Given the description of an element on the screen output the (x, y) to click on. 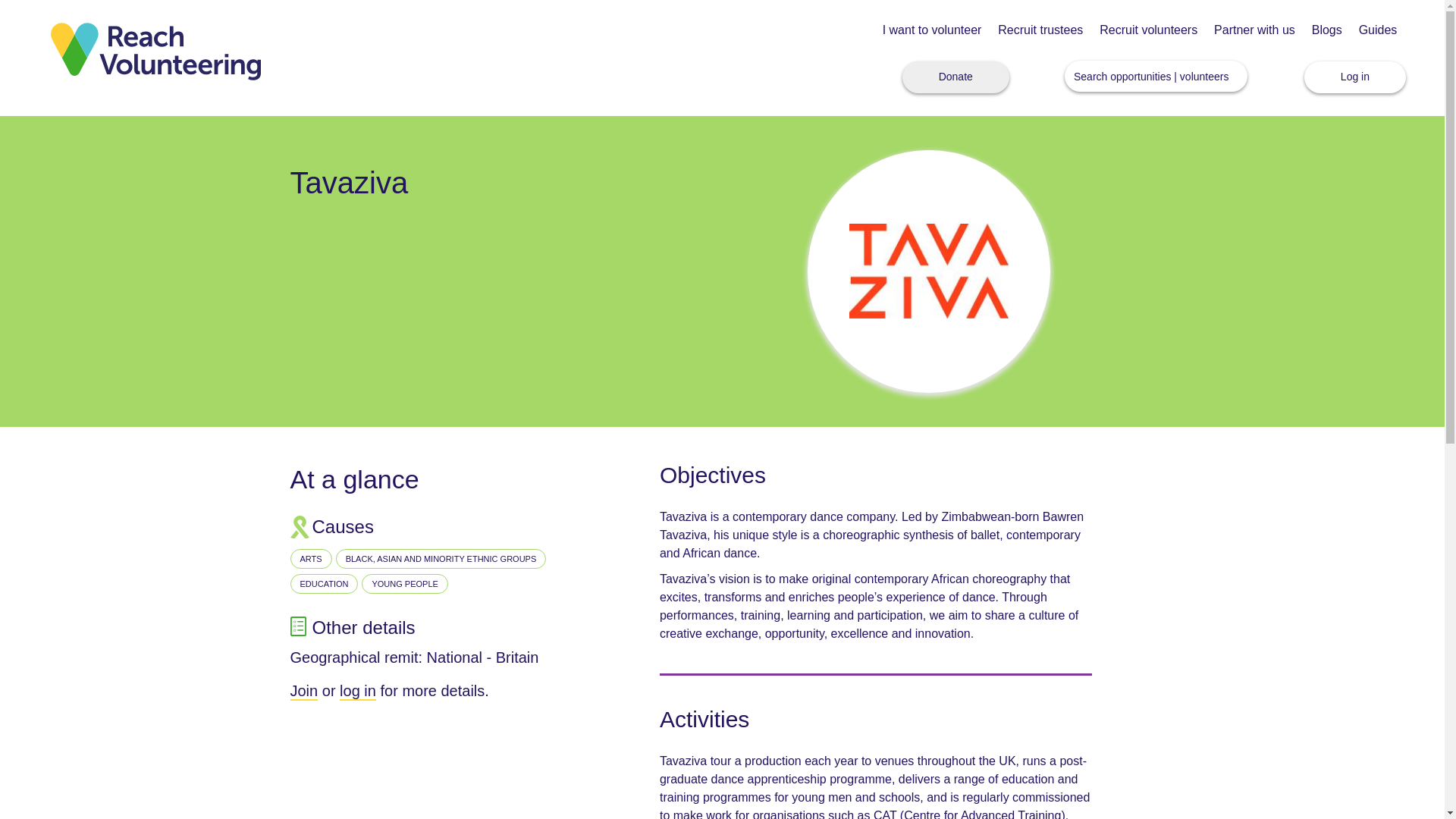
I want to volunteer (931, 29)
Guides (1377, 29)
Recruit trustees (1040, 29)
Log in (1355, 77)
log in (357, 691)
volunteers (1203, 76)
Partner with us (1254, 29)
opportunities (1139, 76)
Home (155, 50)
